Given the description of an element on the screen output the (x, y) to click on. 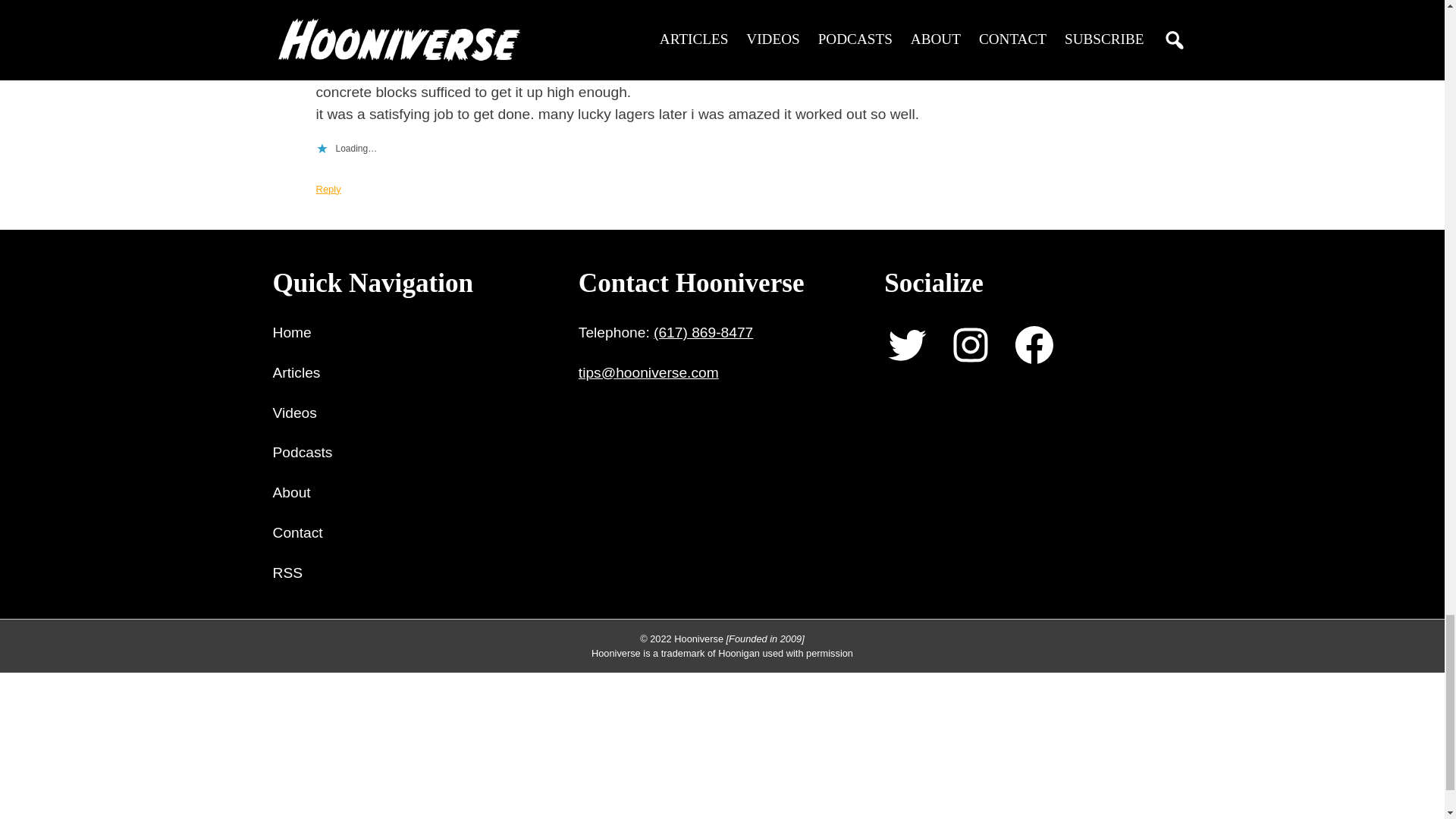
Home (292, 332)
Reply (327, 188)
